Given the description of an element on the screen output the (x, y) to click on. 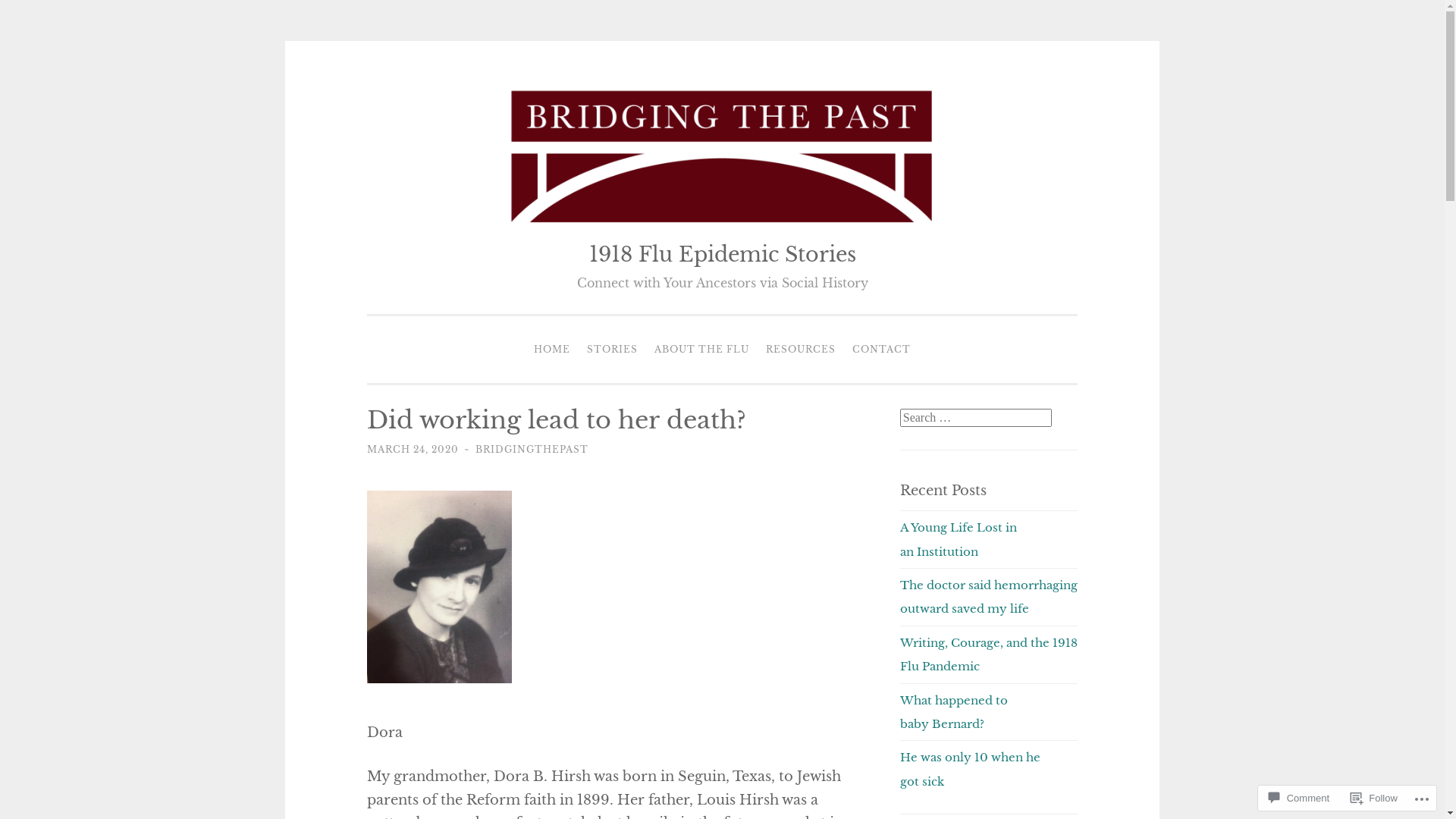
MARCH 24, 2020 Element type: text (412, 449)
BRIDGINGTHEPAST Element type: text (531, 449)
Writing, Courage, and the 1918 Flu Pandemic Element type: text (988, 654)
ABOUT THE FLU Element type: text (701, 349)
What happened to baby Bernard? Element type: text (953, 712)
Comment Element type: text (1298, 797)
He was only 10 when he got sick Element type: text (970, 768)
A Young Life Lost in an Institution Element type: text (958, 539)
Follow Element type: text (1373, 797)
CONTACT Element type: text (881, 349)
HOME Element type: text (552, 349)
1918 Flu Epidemic Stories Element type: text (721, 253)
RESOURCES Element type: text (800, 349)
Search Element type: text (27, 9)
The doctor said hemorrhaging outward saved my life Element type: text (988, 596)
STORIES Element type: text (612, 349)
